Given the description of an element on the screen output the (x, y) to click on. 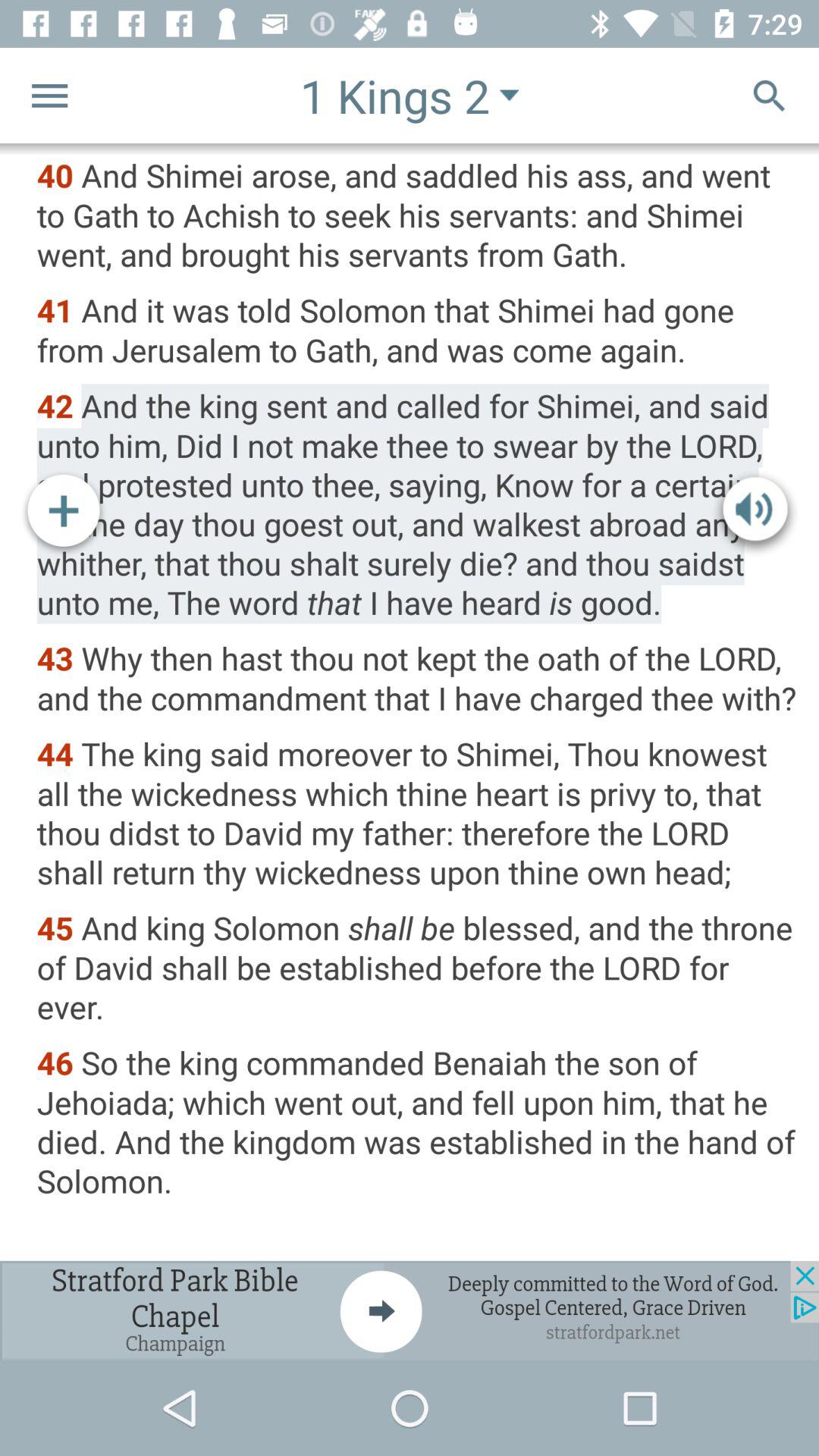
add banner (409, 1310)
